Given the description of an element on the screen output the (x, y) to click on. 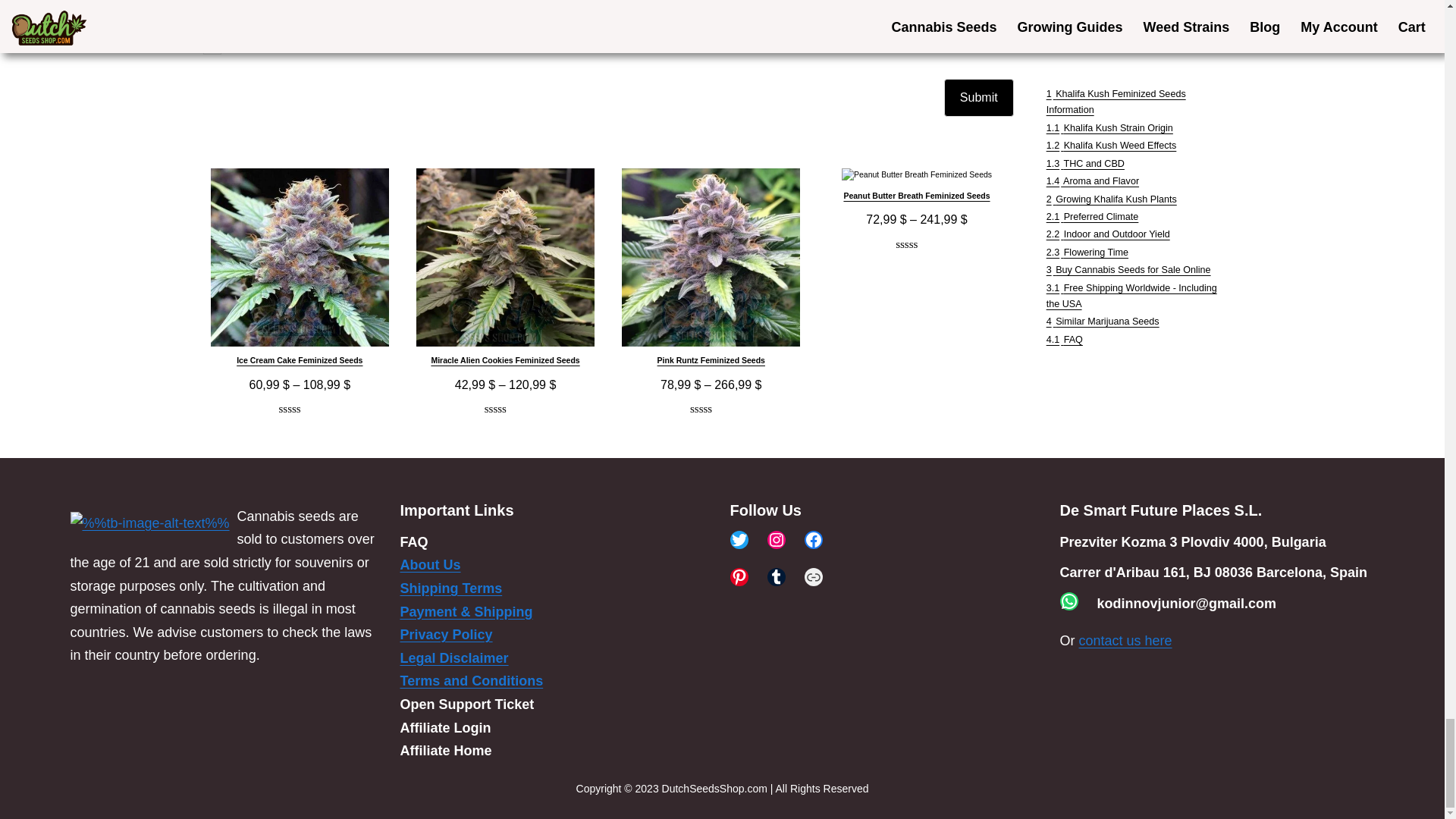
Ice Cream Cake Feminized Seeds (299, 271)
Submit (978, 97)
Rated 5.00 out of 5 (299, 410)
Submit (978, 97)
Rated 5.00 out of 5 (505, 410)
Miracle Alien Cookies Feminized Seeds (505, 271)
yes (212, 45)
Pink Runtz Feminized Seeds (711, 271)
